Given the description of an element on the screen output the (x, y) to click on. 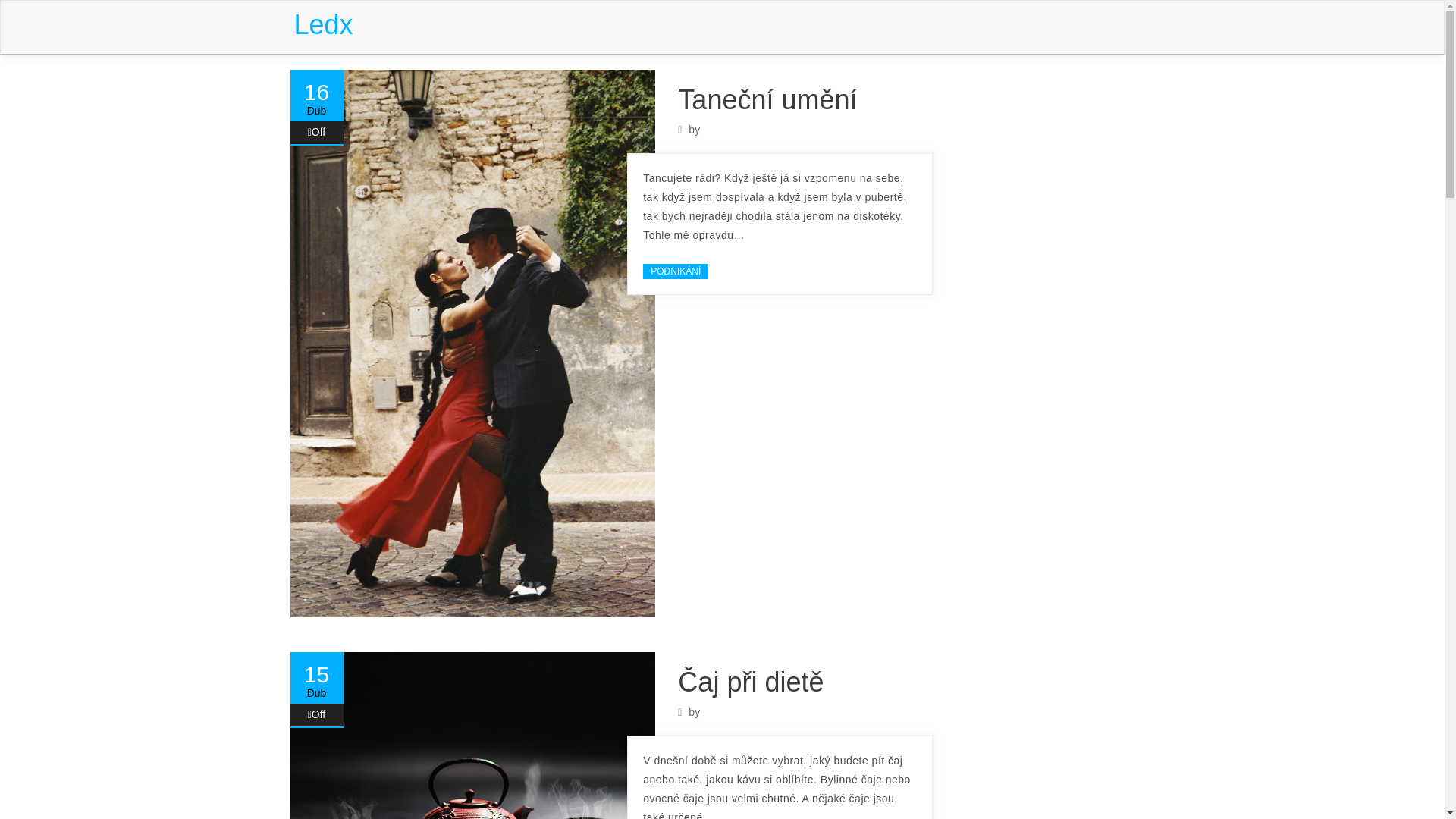
Ledx (323, 24)
Ledx (323, 24)
